Given the description of an element on the screen output the (x, y) to click on. 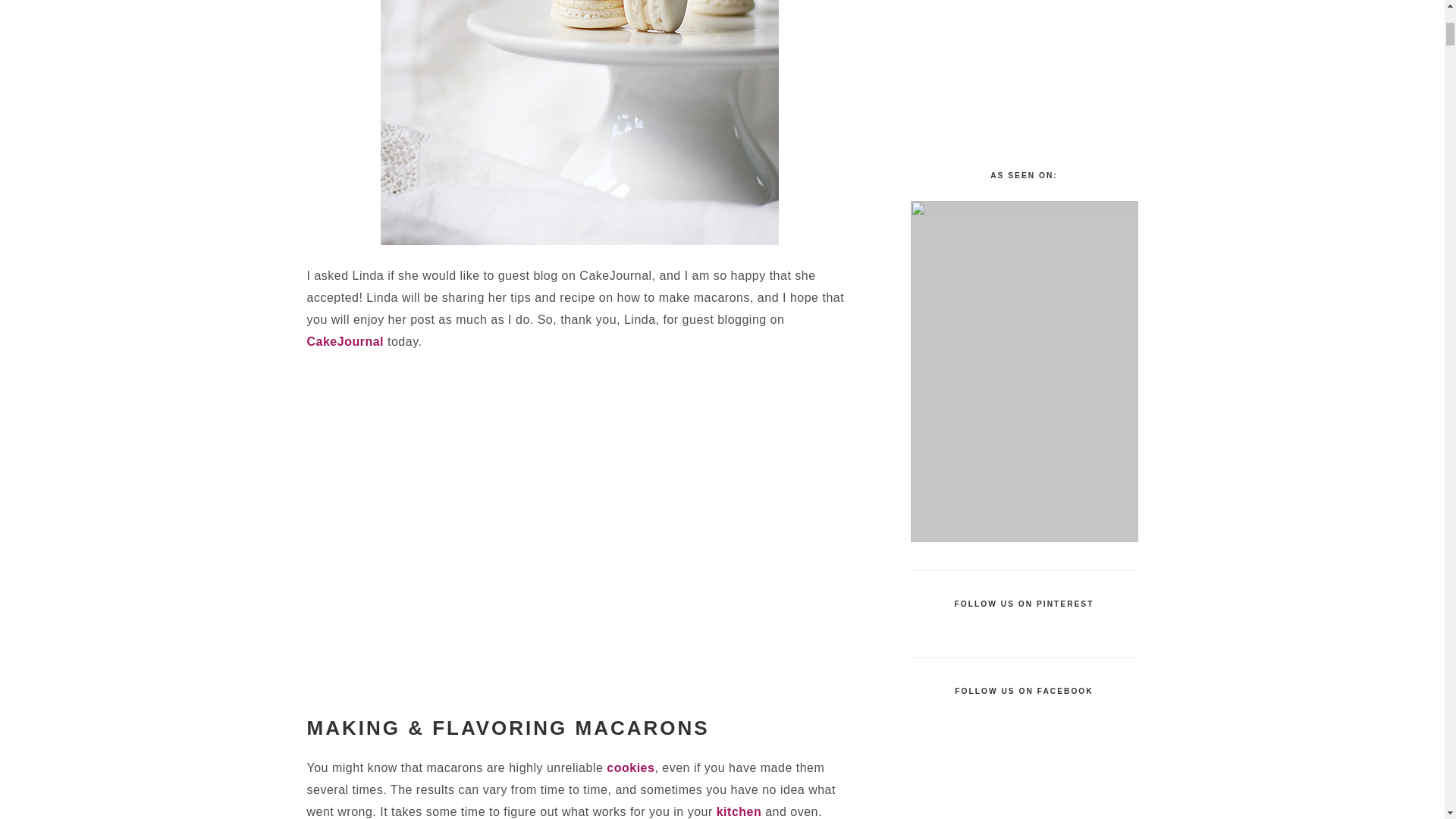
kitchen (738, 811)
How to make macarons  (579, 122)
CakeJournal (344, 341)
cookies (630, 767)
